Given the description of an element on the screen output the (x, y) to click on. 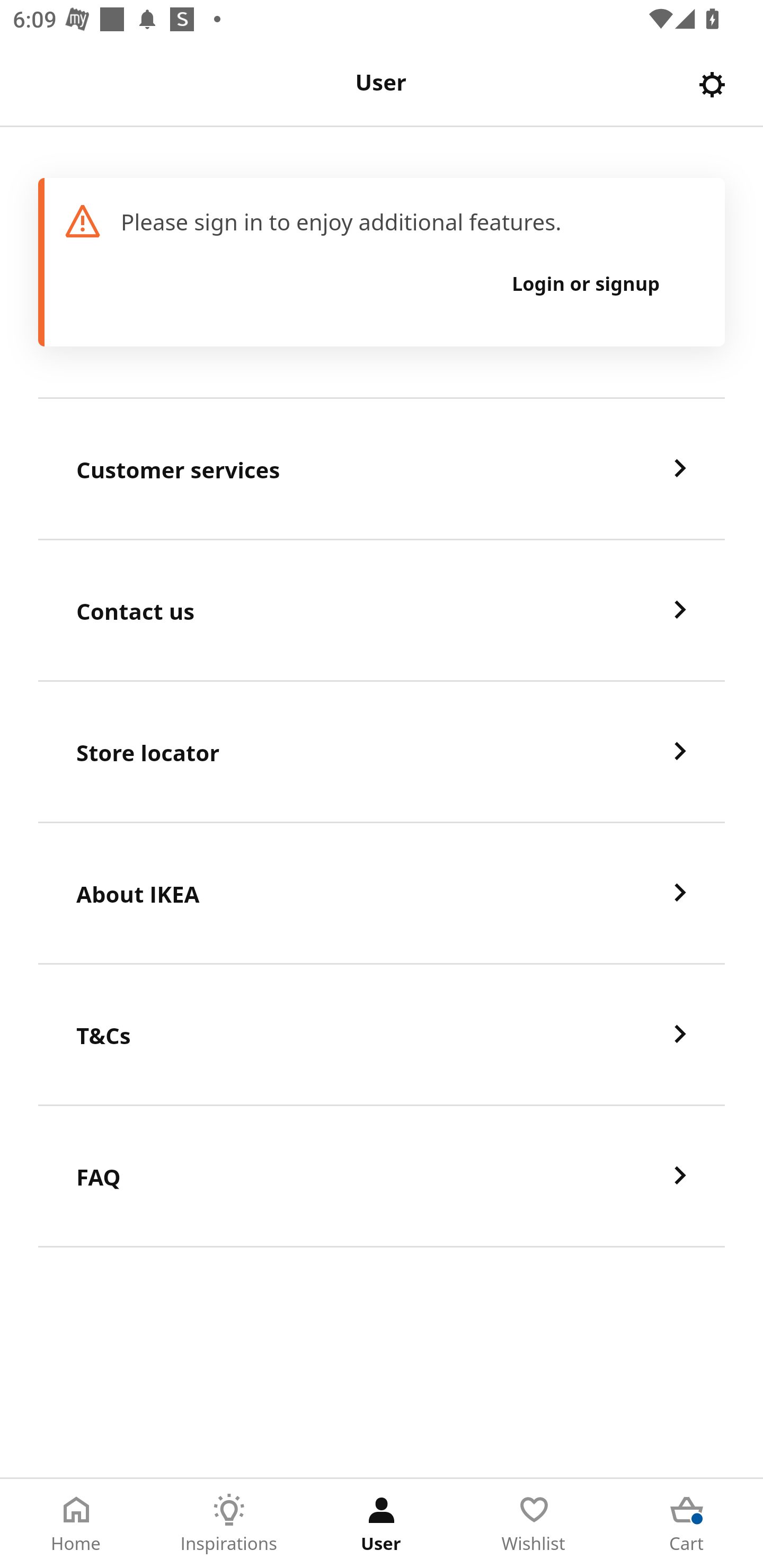
Login or signup (586, 282)
Customer services (381, 469)
Contact us (381, 611)
Store locator (381, 752)
About IKEA (381, 893)
T&Cs (381, 1034)
FAQ (381, 1176)
Home
Tab 1 of 5 (76, 1522)
Inspirations
Tab 2 of 5 (228, 1522)
User
Tab 3 of 5 (381, 1522)
Wishlist
Tab 4 of 5 (533, 1522)
Cart
Tab 5 of 5 (686, 1522)
